Given the description of an element on the screen output the (x, y) to click on. 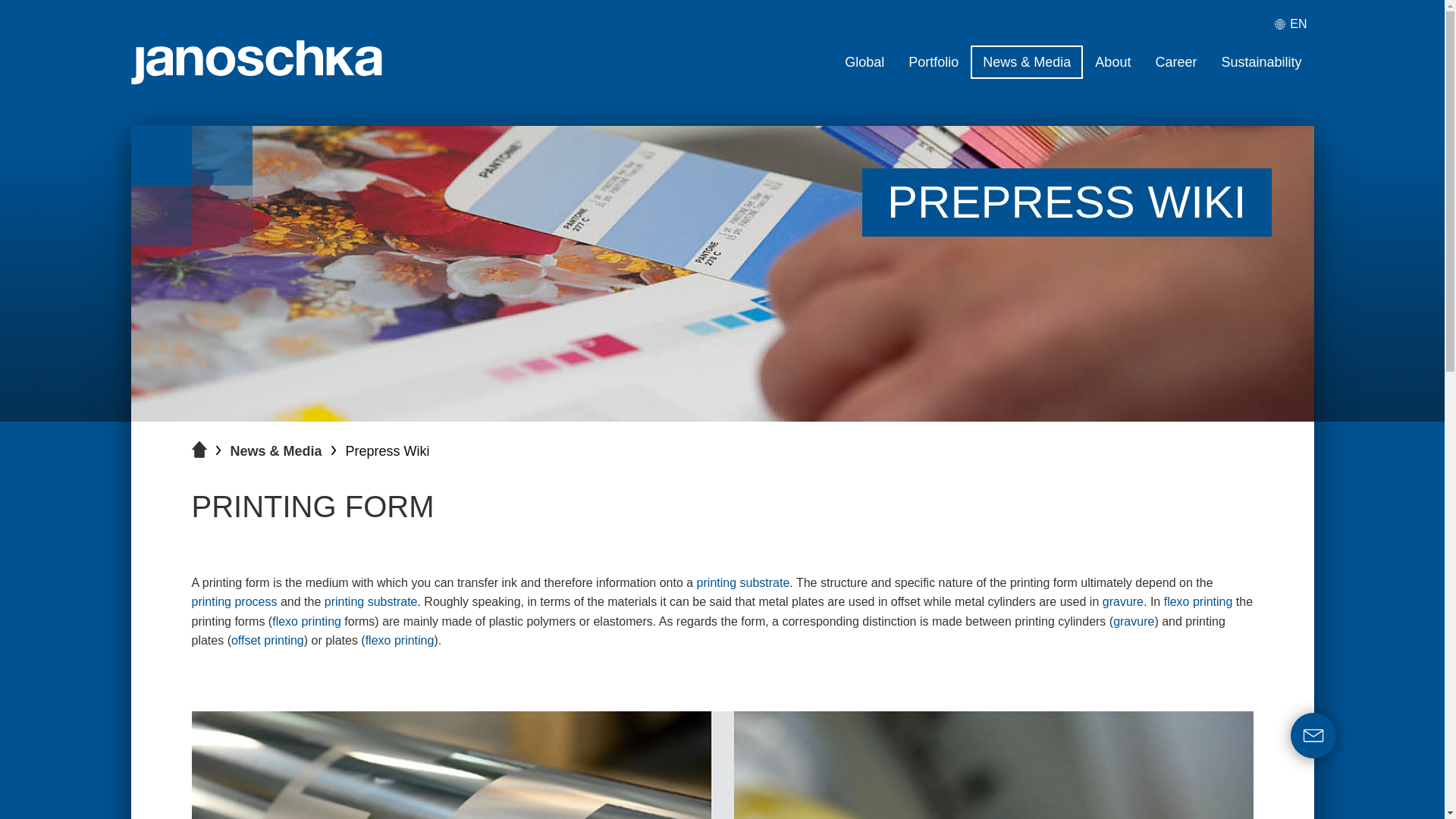
Sustainability (1260, 61)
About (1112, 61)
Gravure (1133, 621)
printing substrate (743, 582)
Portfolio (933, 61)
Printing process (233, 601)
Gravure (1122, 601)
EN (1293, 24)
flexo printing (1198, 601)
Printing substrate (370, 601)
gravure (1122, 601)
Global (864, 61)
Flexo printing (306, 621)
Career (1175, 61)
printing substrate (370, 601)
